Given the description of an element on the screen output the (x, y) to click on. 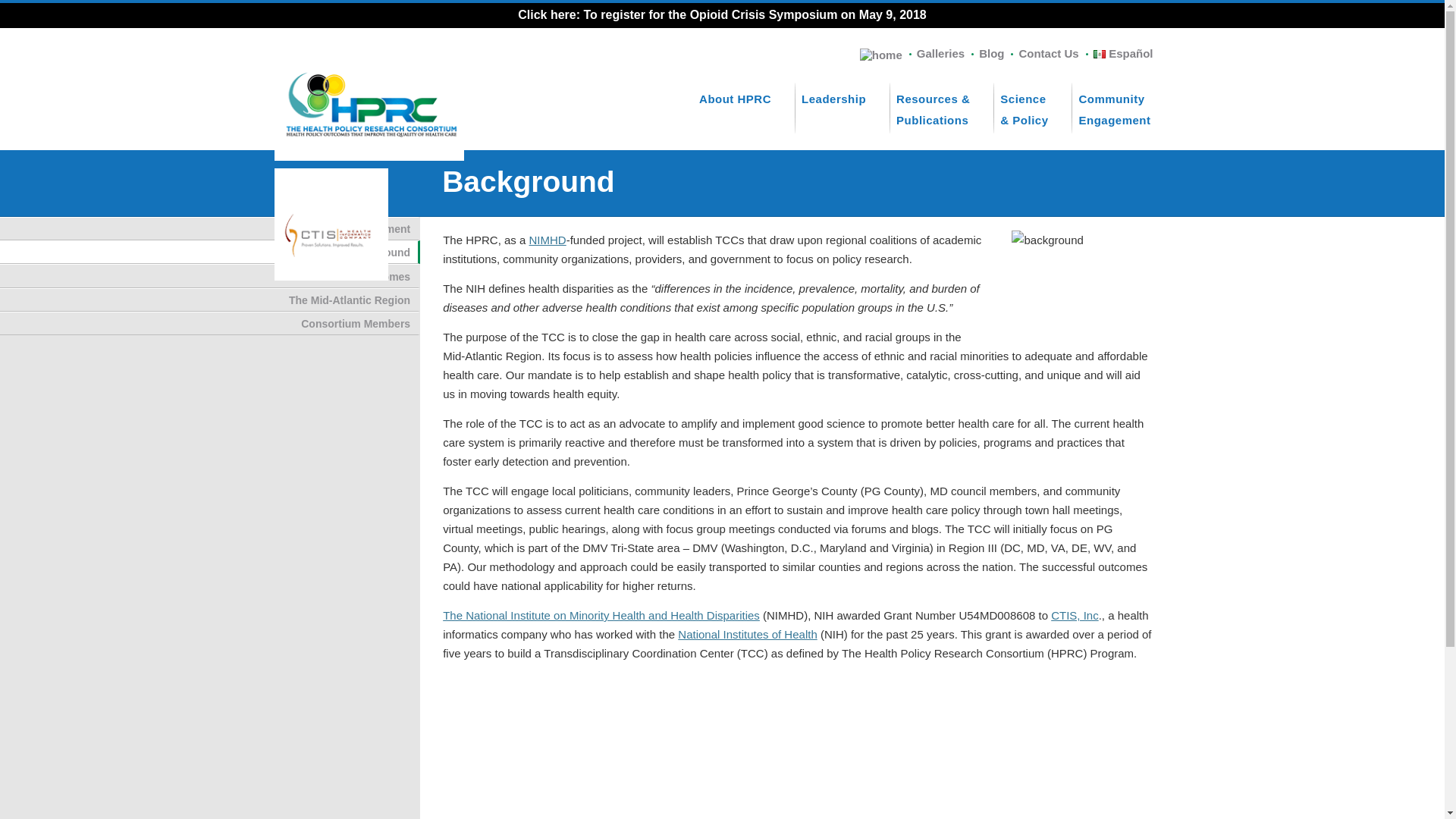
Mission Statement (210, 228)
Galleries (940, 52)
Aims and Outcomes (743, 114)
Blog (210, 275)
Contact Us (991, 52)
Consortium Members (1047, 52)
Leadership (210, 323)
Background (1122, 114)
The Mid-Atlantic Region (841, 103)
NIMHD (210, 251)
